Given the description of an element on the screen output the (x, y) to click on. 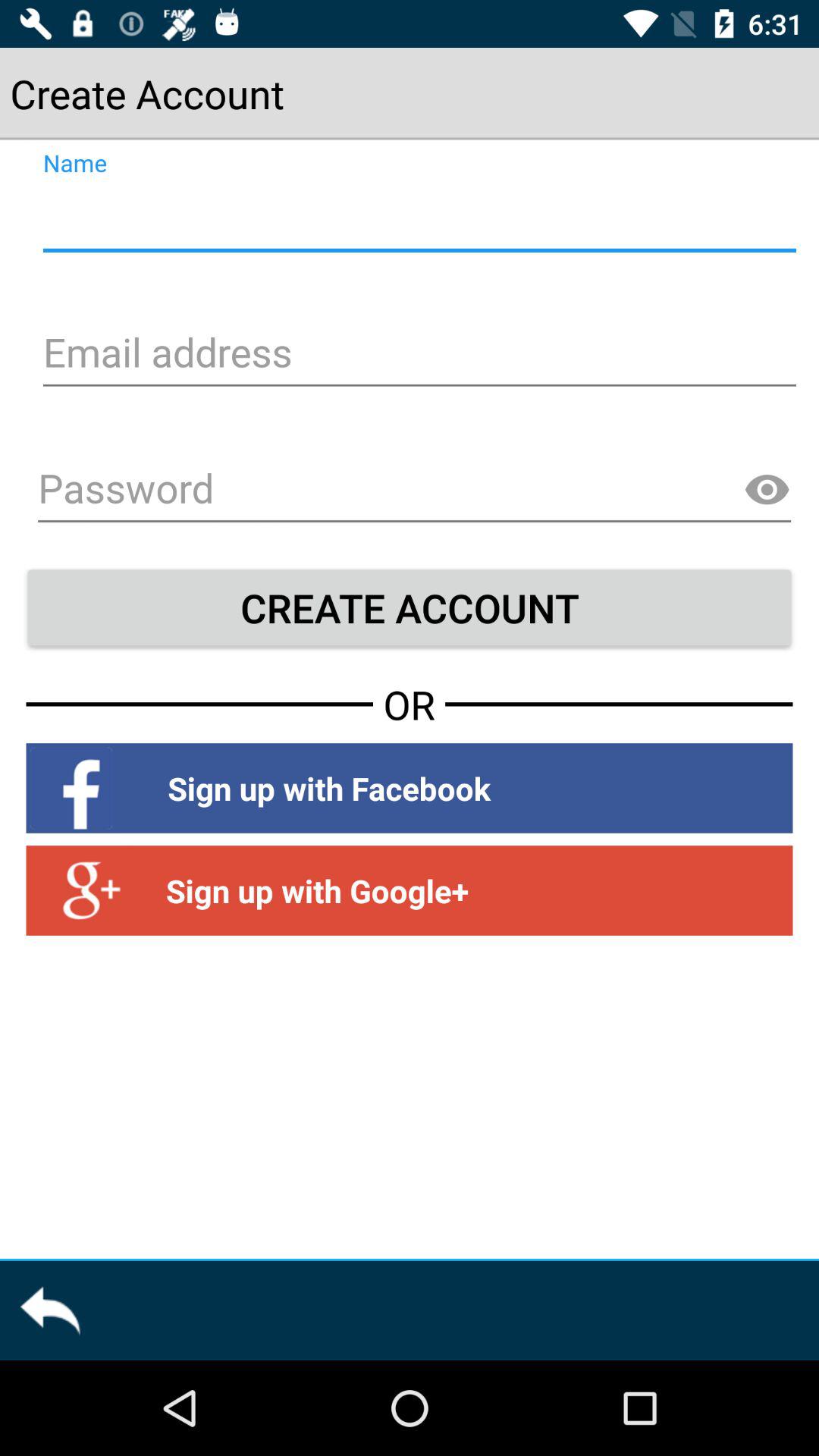
enter email address (417, 354)
